Given the description of an element on the screen output the (x, y) to click on. 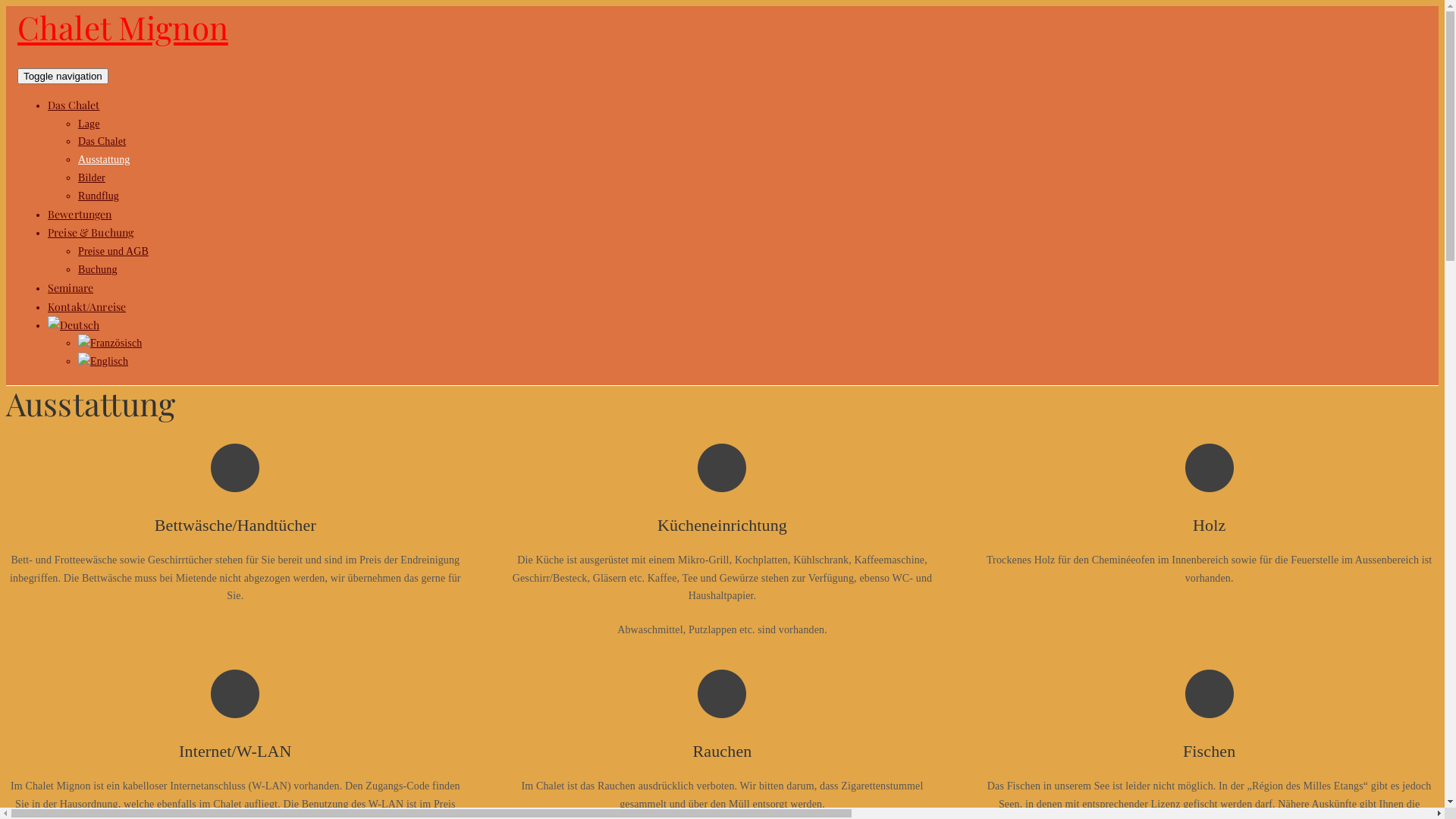
Chalet Mignon Element type: text (122, 27)
Kontakt/Anreise Element type: text (86, 305)
Seminare Element type: text (70, 287)
Das Chalet Element type: text (101, 141)
Toggle navigation Element type: text (62, 76)
Buchung Element type: text (97, 269)
Preise & Buchung Element type: text (90, 232)
Bewertungen Element type: text (79, 214)
Preise und AGB Element type: text (113, 251)
Rundflug Element type: text (98, 195)
Das Chalet Element type: text (73, 104)
Lage Element type: text (89, 123)
Bilder Element type: text (91, 177)
Ausstattung Element type: text (103, 159)
